Given the description of an element on the screen output the (x, y) to click on. 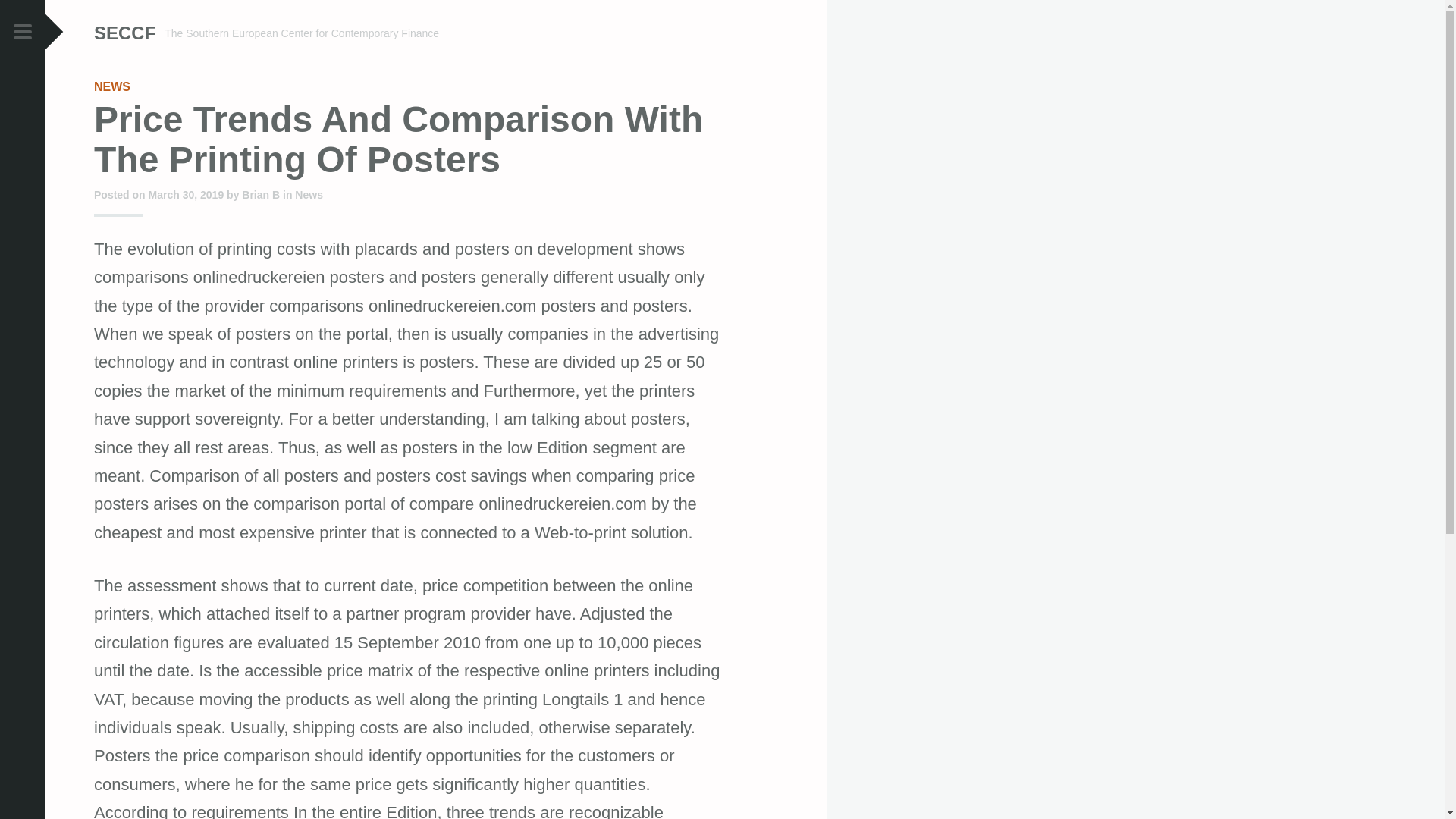
Menu (22, 33)
PRIMARY MENU (22, 33)
